Given the description of an element on the screen output the (x, y) to click on. 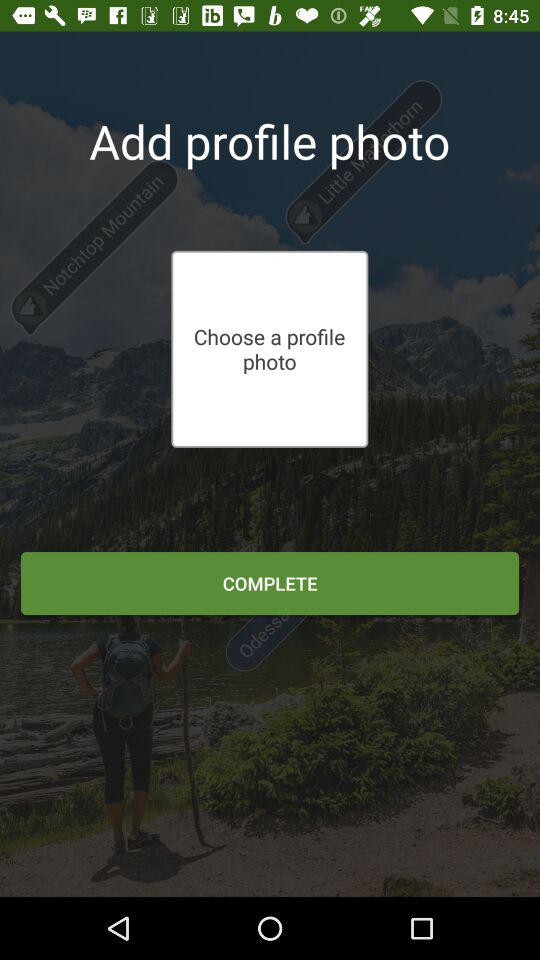
click the complete icon (270, 583)
